Given the description of an element on the screen output the (x, y) to click on. 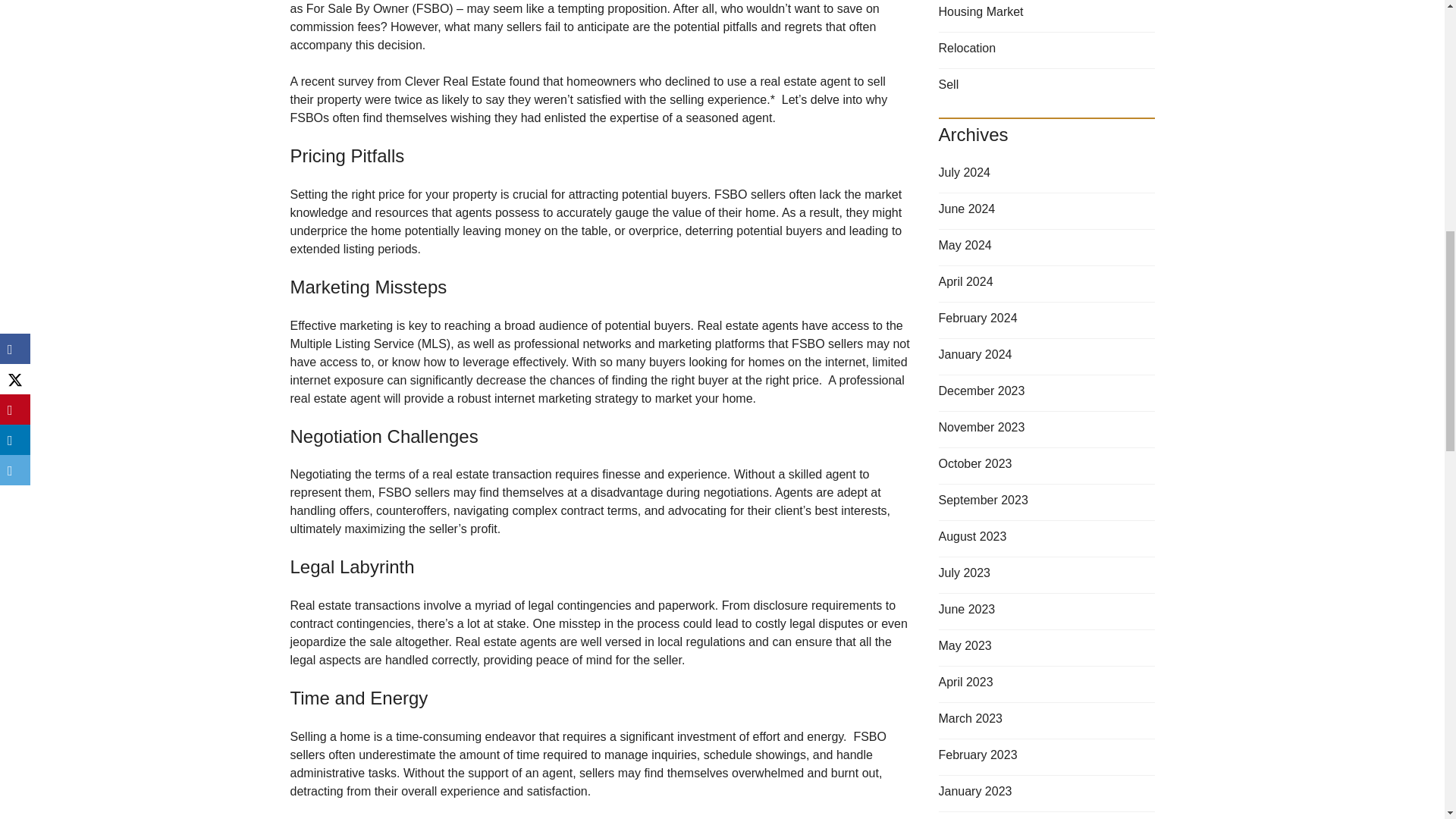
seasoned agent (729, 117)
